Given the description of an element on the screen output the (x, y) to click on. 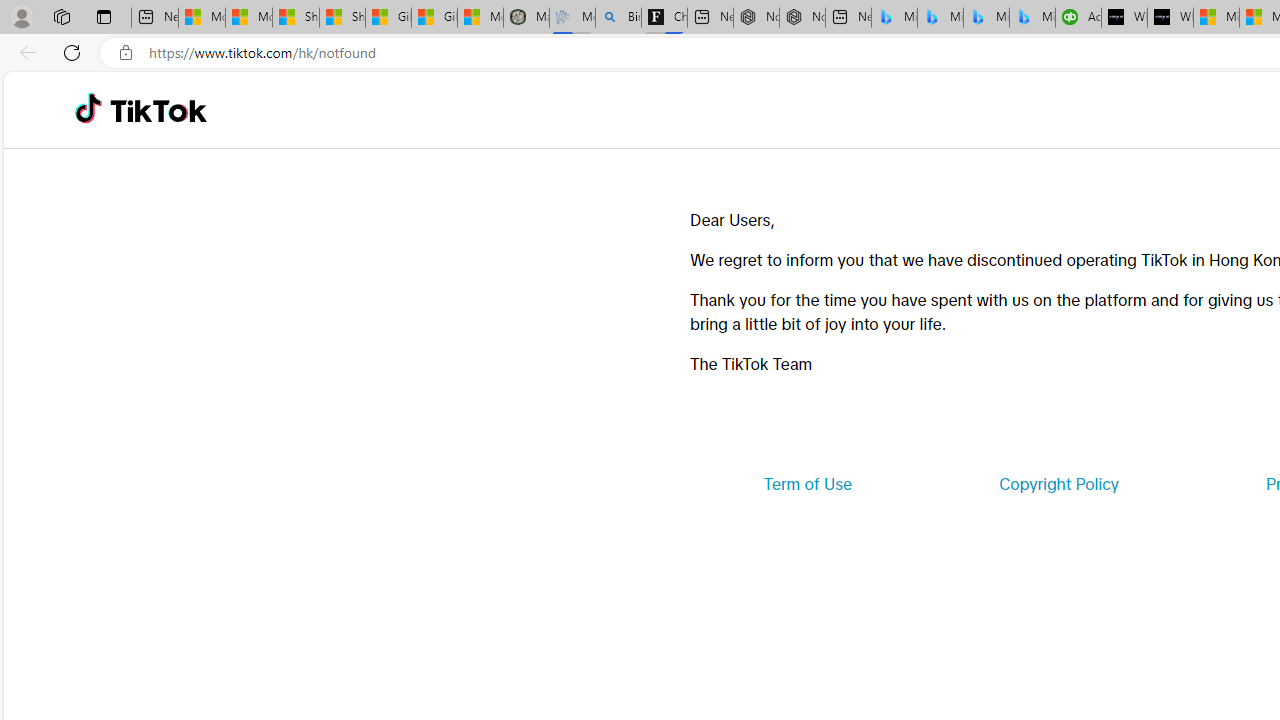
Bing Real Estate - Home sales and rental listings (618, 17)
TikTok (158, 110)
Manatee Mortality Statistics | FWC (526, 17)
Term of Use (807, 484)
